Given the description of an element on the screen output the (x, y) to click on. 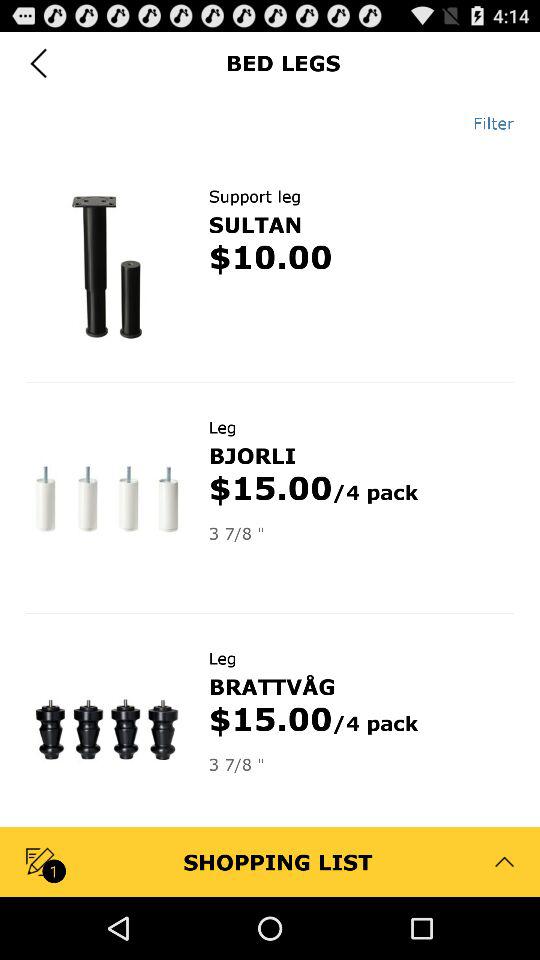
turn on app at the top right corner (486, 123)
